Given the description of an element on the screen output the (x, y) to click on. 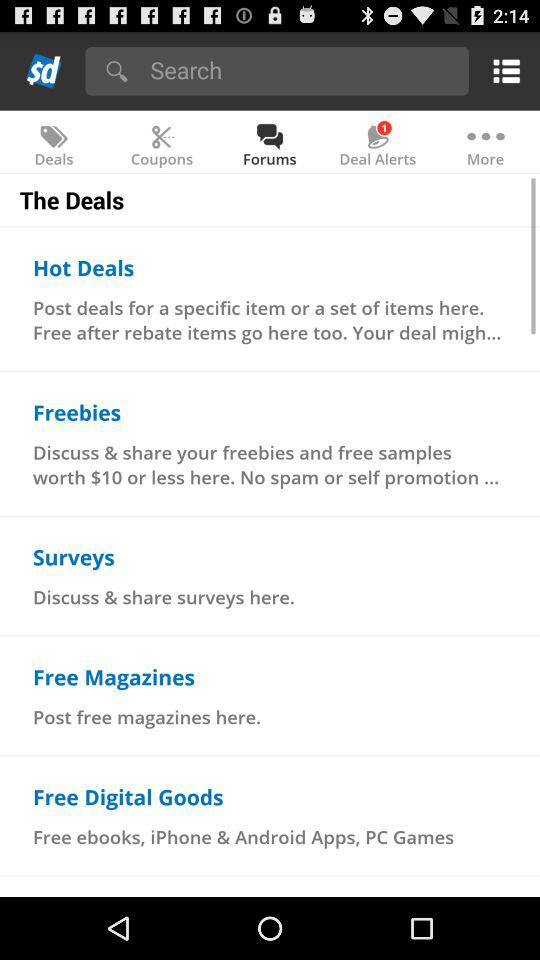
press the item below post free magazines (128, 796)
